Given the description of an element on the screen output the (x, y) to click on. 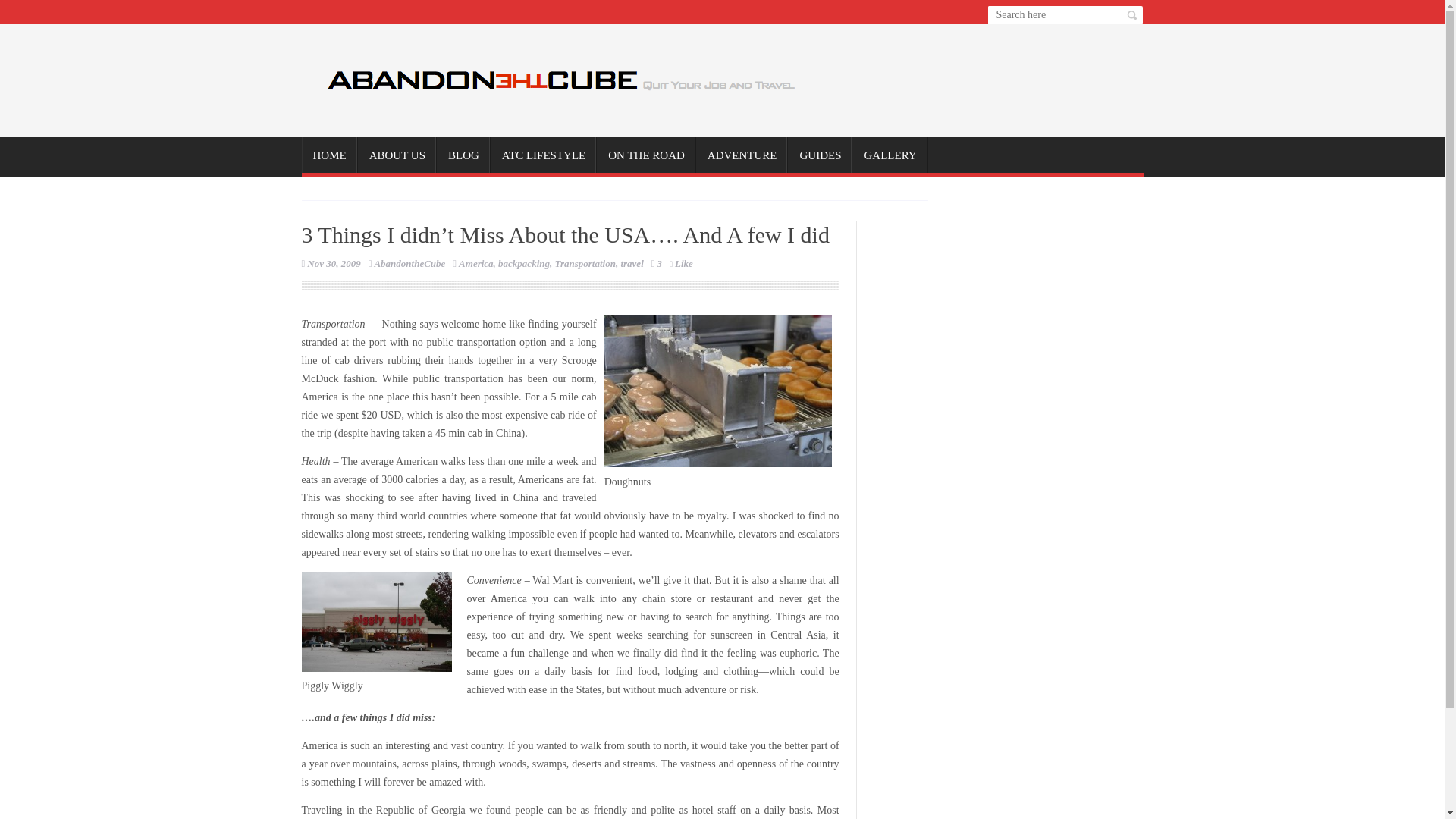
usa one (376, 621)
Posts by AbandontheCube (409, 263)
usa two (717, 390)
Like (681, 263)
